Given the description of an element on the screen output the (x, y) to click on. 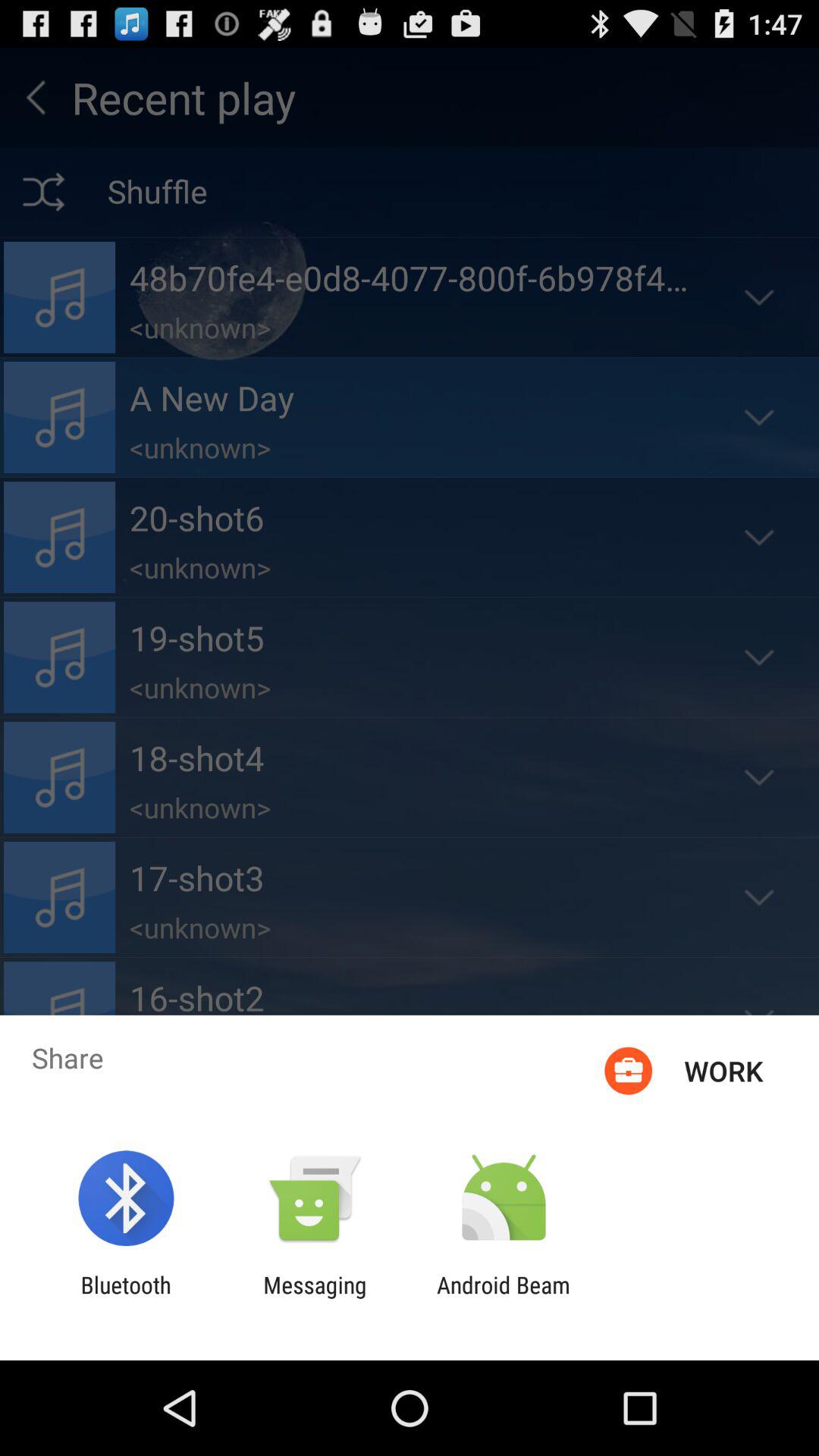
select item to the right of the messaging item (503, 1298)
